Given the description of an element on the screen output the (x, y) to click on. 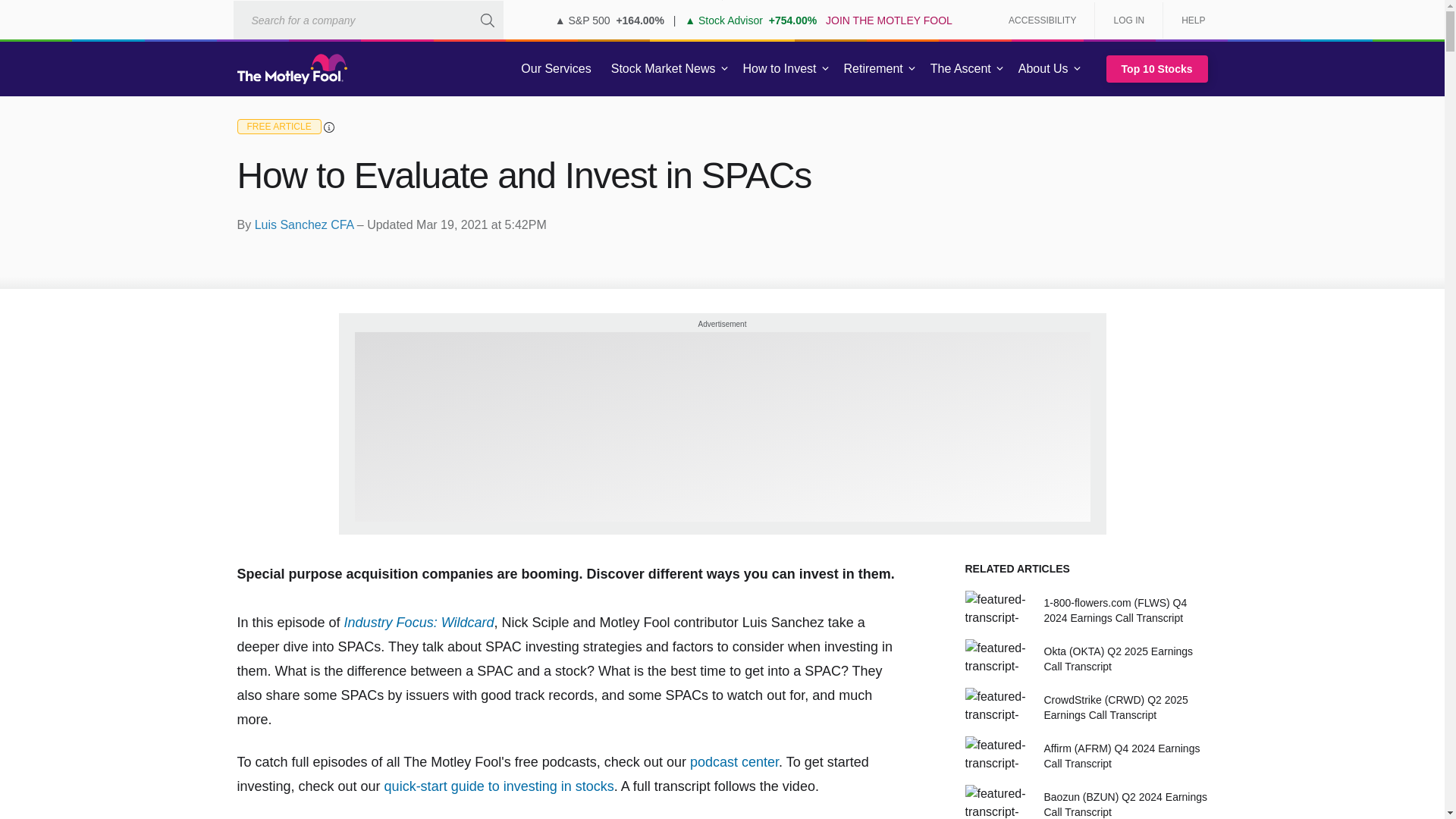
Stock Market News (662, 68)
LOG IN (1128, 19)
How to Invest (779, 68)
Our Services (555, 68)
ACCESSIBILITY (1042, 19)
HELP (1187, 19)
